Given the description of an element on the screen output the (x, y) to click on. 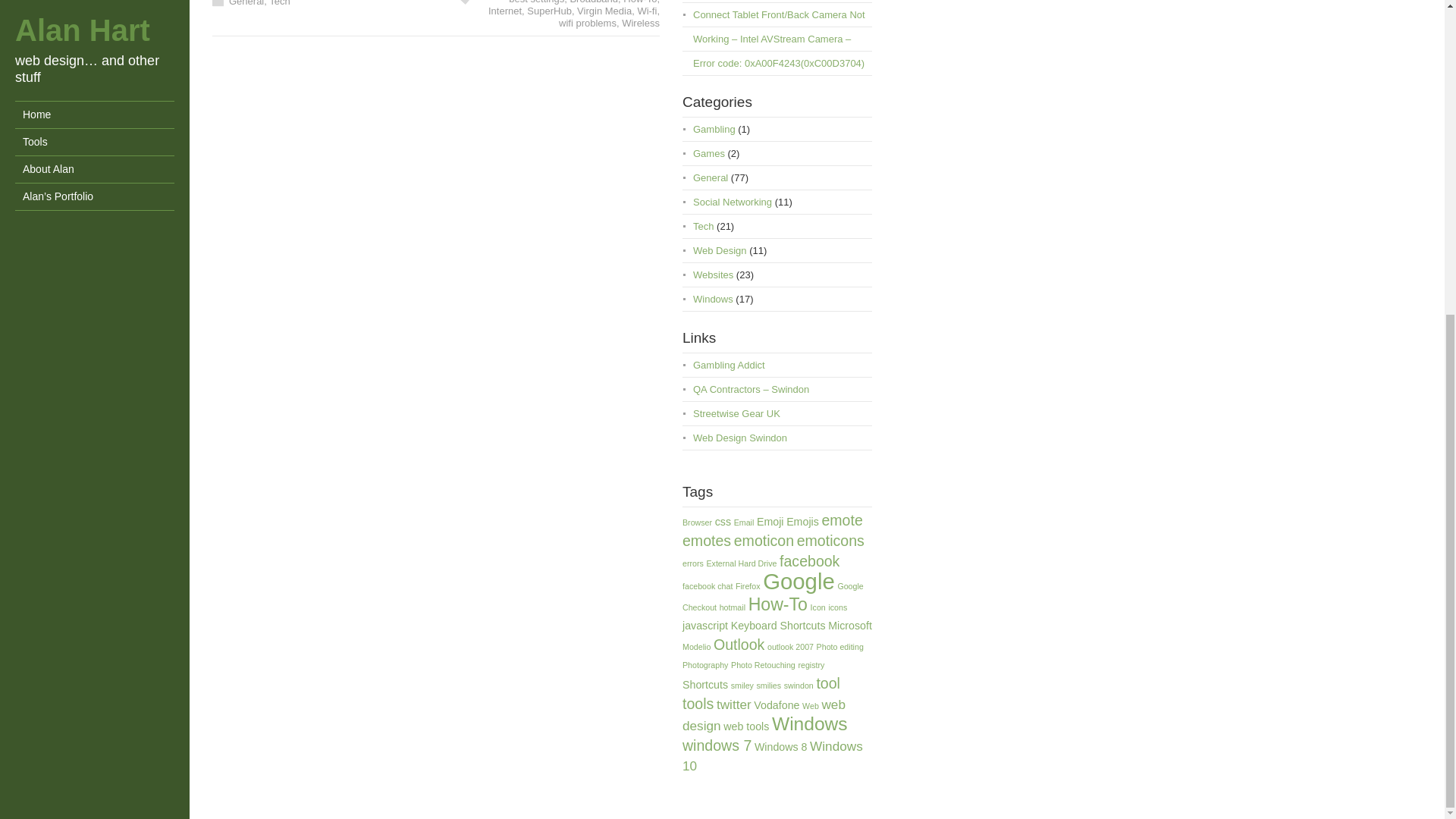
Wi-fi (646, 25)
Web Design (719, 265)
wifi problems (587, 38)
best settings (536, 13)
B4508 Road Closure near Watchfield- 6th Nov 2017 (776, 5)
General (245, 16)
Social Networking (732, 216)
Windows (713, 314)
Broadband (593, 13)
Gambling Addict (729, 379)
How-To (639, 13)
Tech (279, 16)
Internet (504, 25)
Tech (703, 241)
Virgin Media (603, 25)
